Given the description of an element on the screen output the (x, y) to click on. 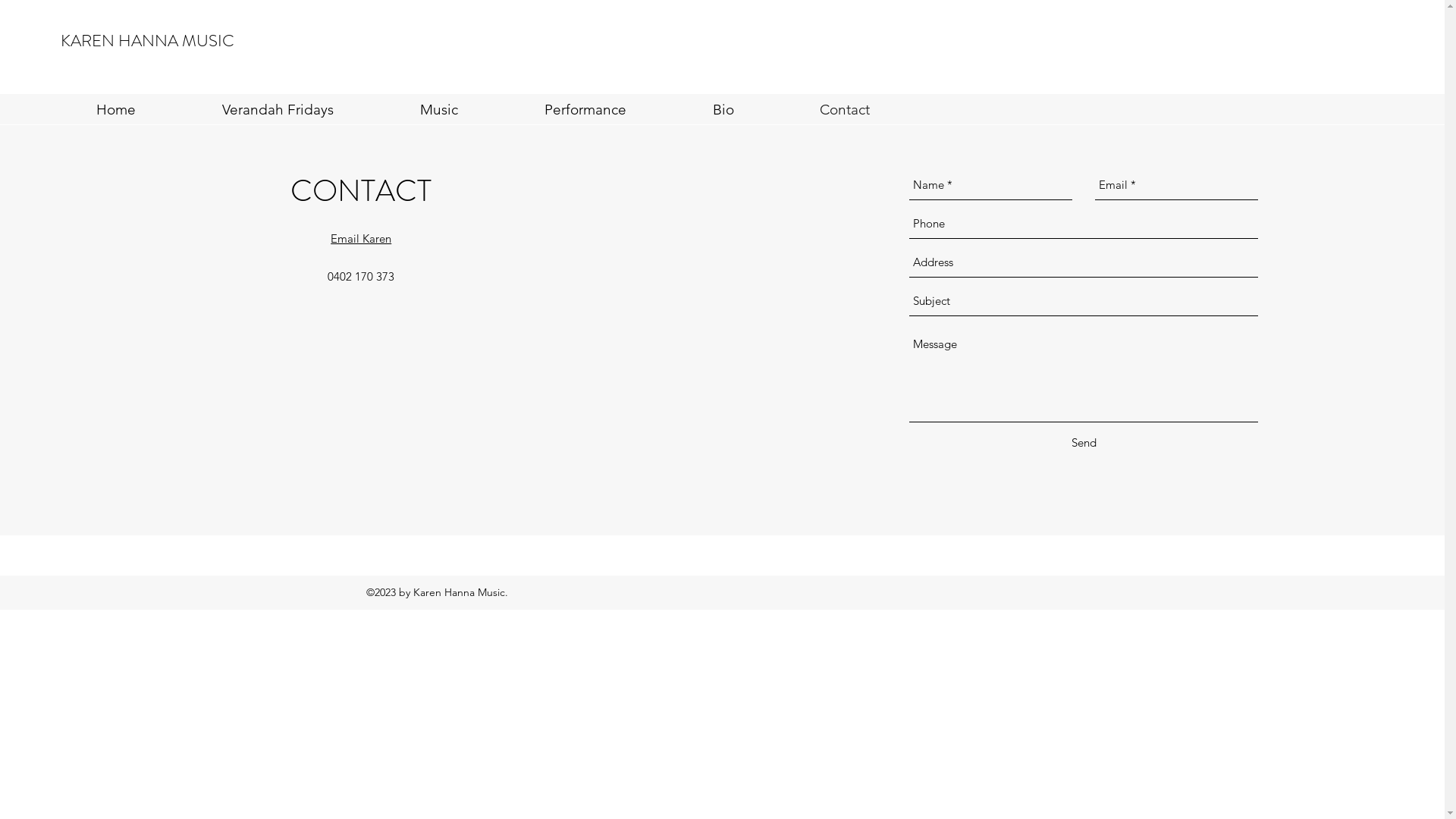
Facebook Like Element type: hover (691, 591)
Bio Element type: text (722, 109)
Home Element type: text (115, 109)
Email Karen Element type: text (360, 238)
Music Element type: text (438, 109)
Performance Element type: text (585, 109)
Verandah Fridays Element type: text (277, 109)
KAREN HANNA MUSIC Element type: text (147, 40)
Contact Element type: text (844, 109)
Send Element type: text (1083, 442)
